Given the description of an element on the screen output the (x, y) to click on. 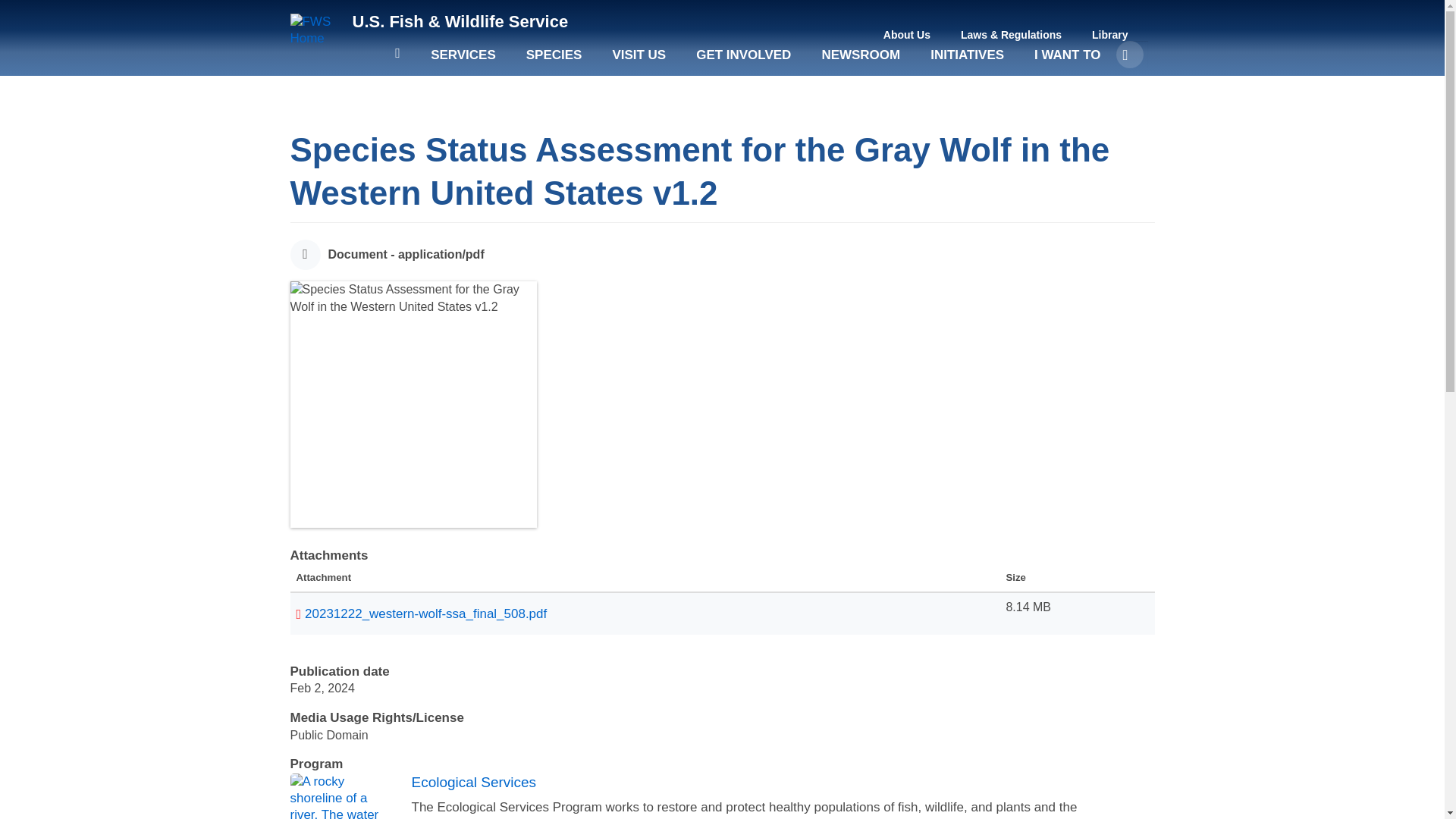
SERVICES (463, 62)
Access services provided by FWS (463, 62)
Library (1109, 34)
About Us (906, 34)
FWS Home (459, 21)
FWS Home (314, 29)
